Given the description of an element on the screen output the (x, y) to click on. 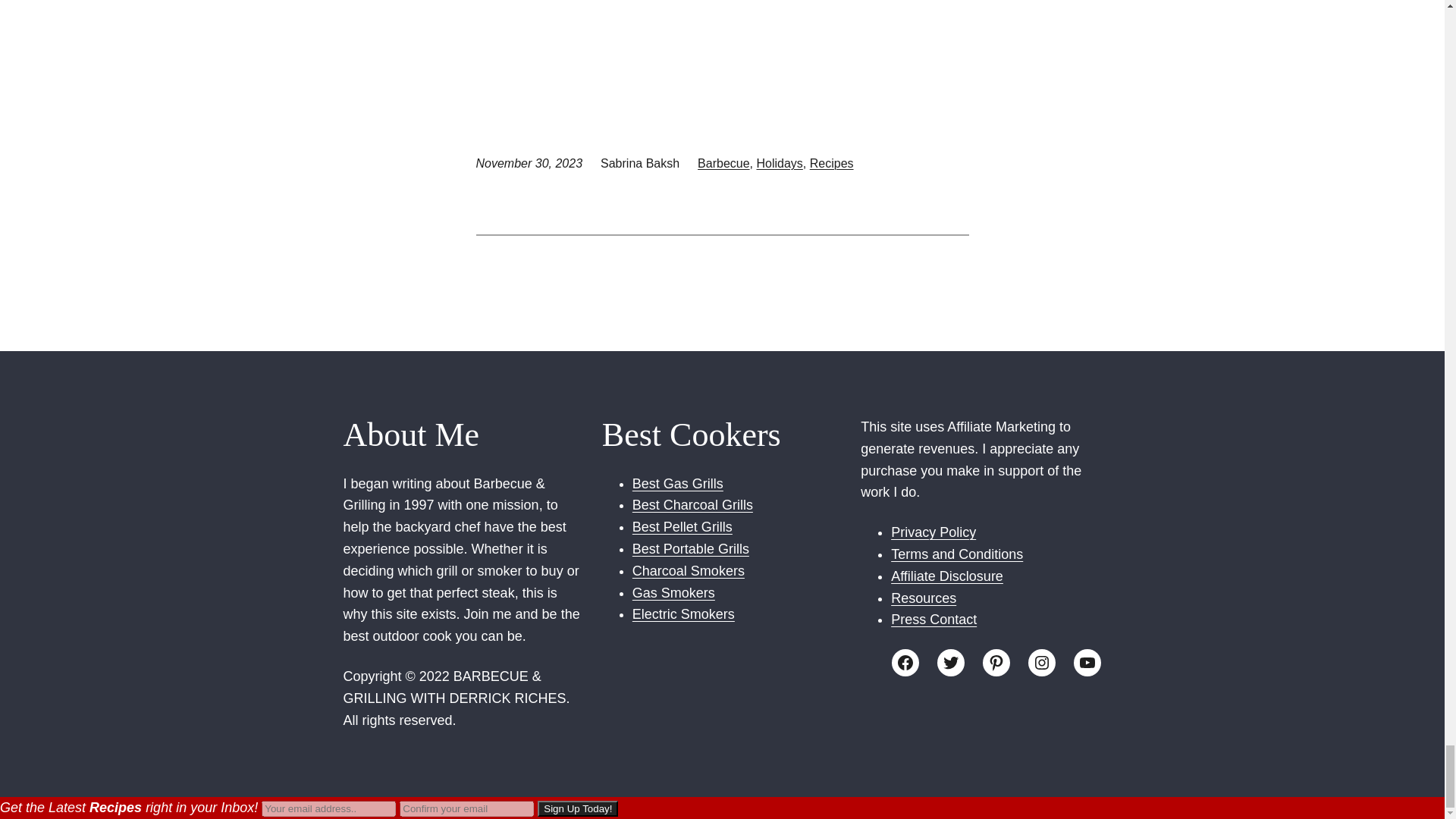
Sign Up Today! (577, 808)
